Given the description of an element on the screen output the (x, y) to click on. 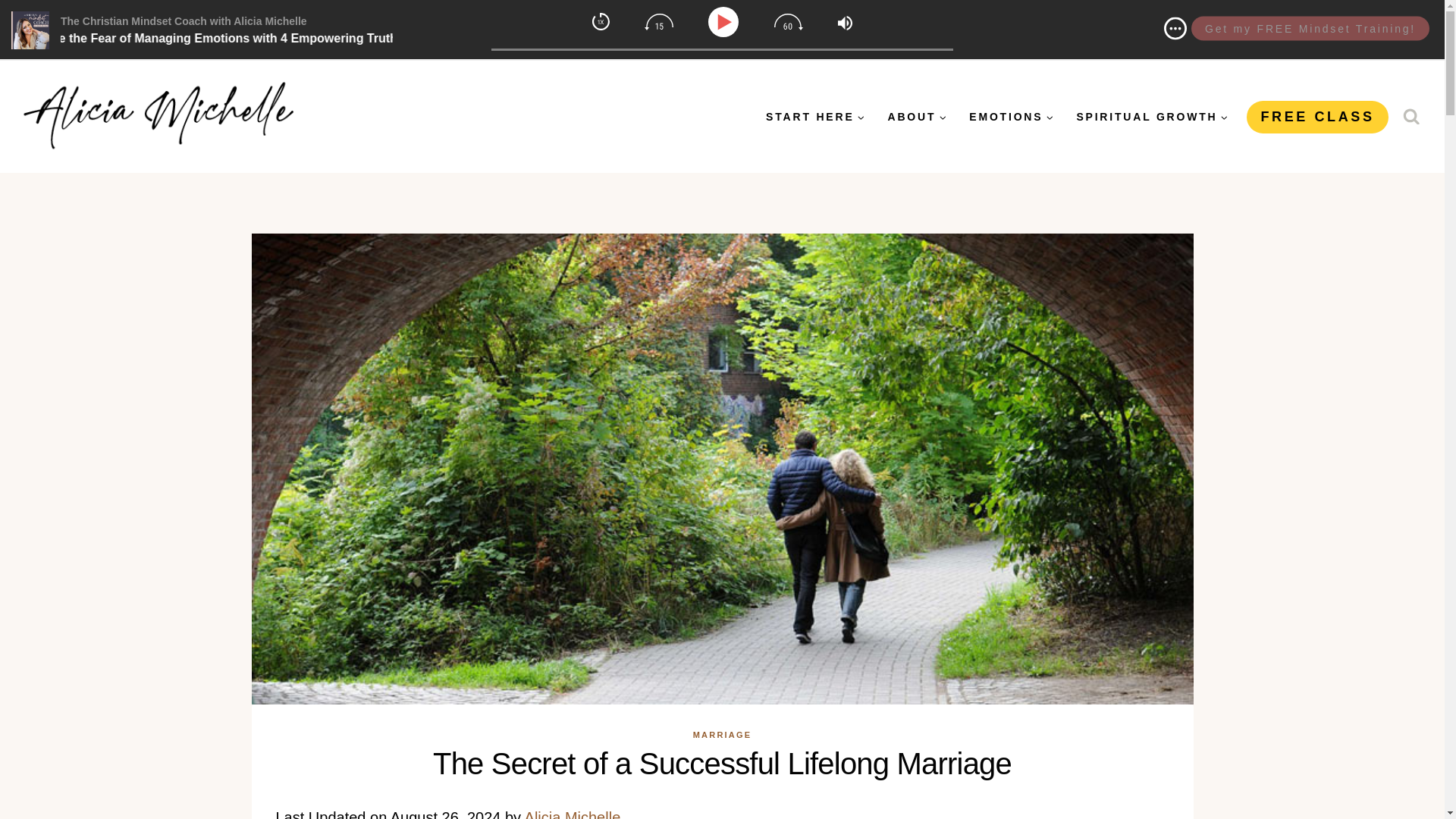
More (1174, 27)
SPIRITUAL GROWTH (1151, 116)
Forward 60 seconds (788, 21)
EMOTIONS (1011, 116)
Back 15 seconds (658, 21)
START HERE (815, 116)
Speed: Normal (601, 21)
